Given the description of an element on the screen output the (x, y) to click on. 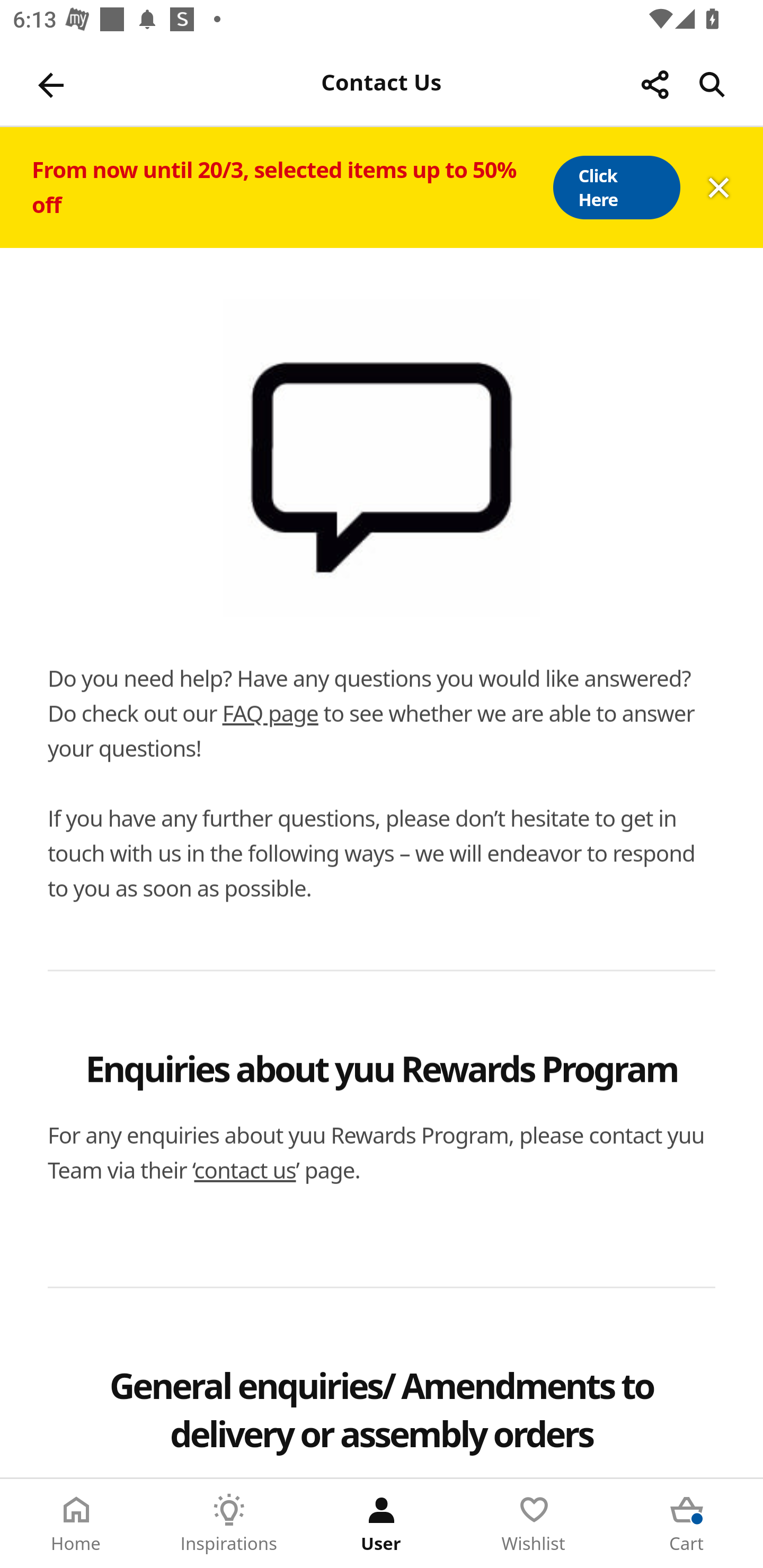
Click Here (615, 187)
FAQ page (270, 713)
contact us (245, 1169)
Home
Tab 1 of 5 (76, 1522)
Inspirations
Tab 2 of 5 (228, 1522)
User
Tab 3 of 5 (381, 1522)
Wishlist
Tab 4 of 5 (533, 1522)
Cart
Tab 5 of 5 (686, 1522)
